Given the description of an element on the screen output the (x, y) to click on. 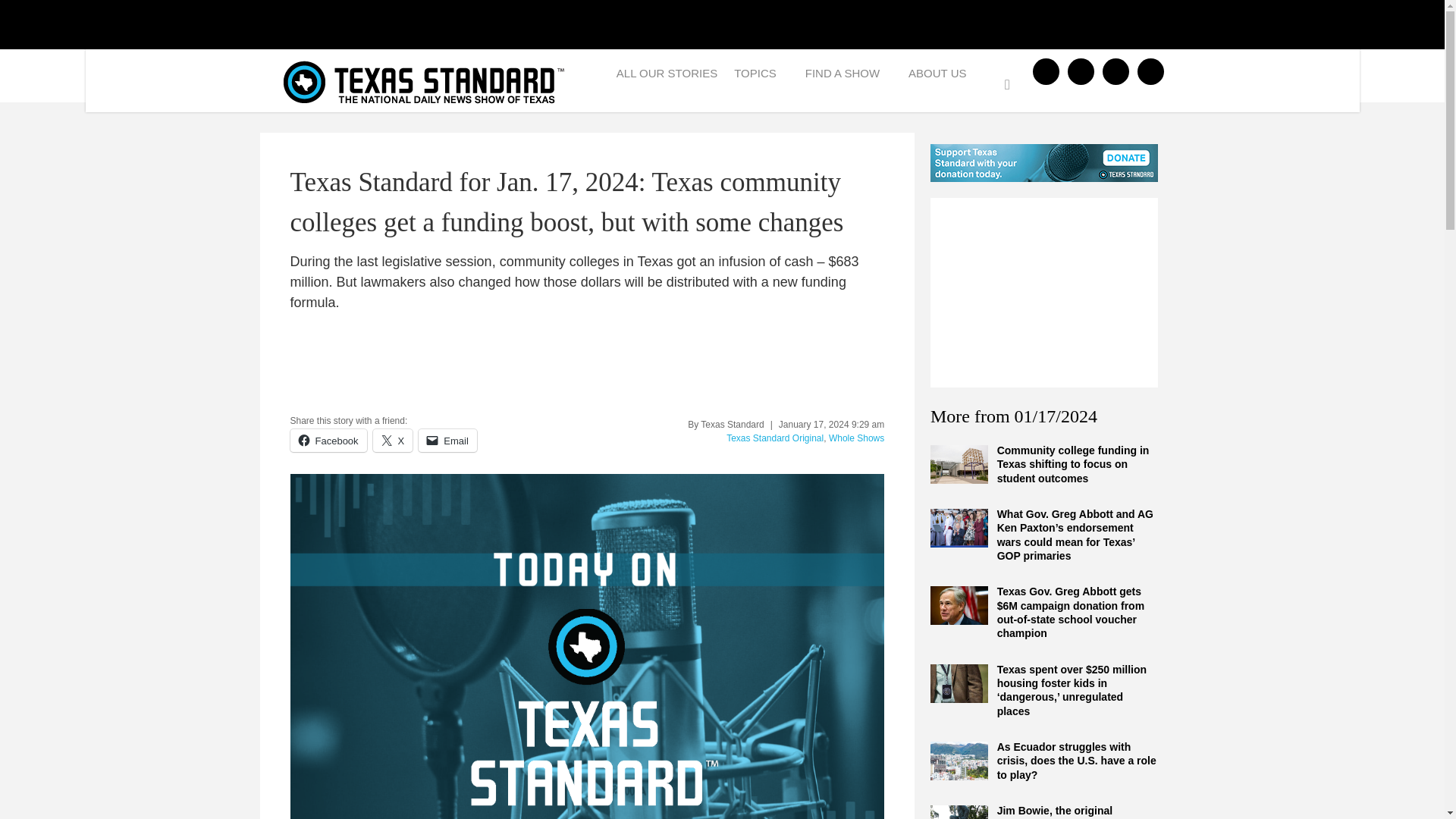
TOPICS (761, 77)
Click to email a link to a friend (448, 440)
ALL OUR STORIES (666, 77)
Click to share on Facebook (327, 440)
Click to share on X (392, 440)
